Given the description of an element on the screen output the (x, y) to click on. 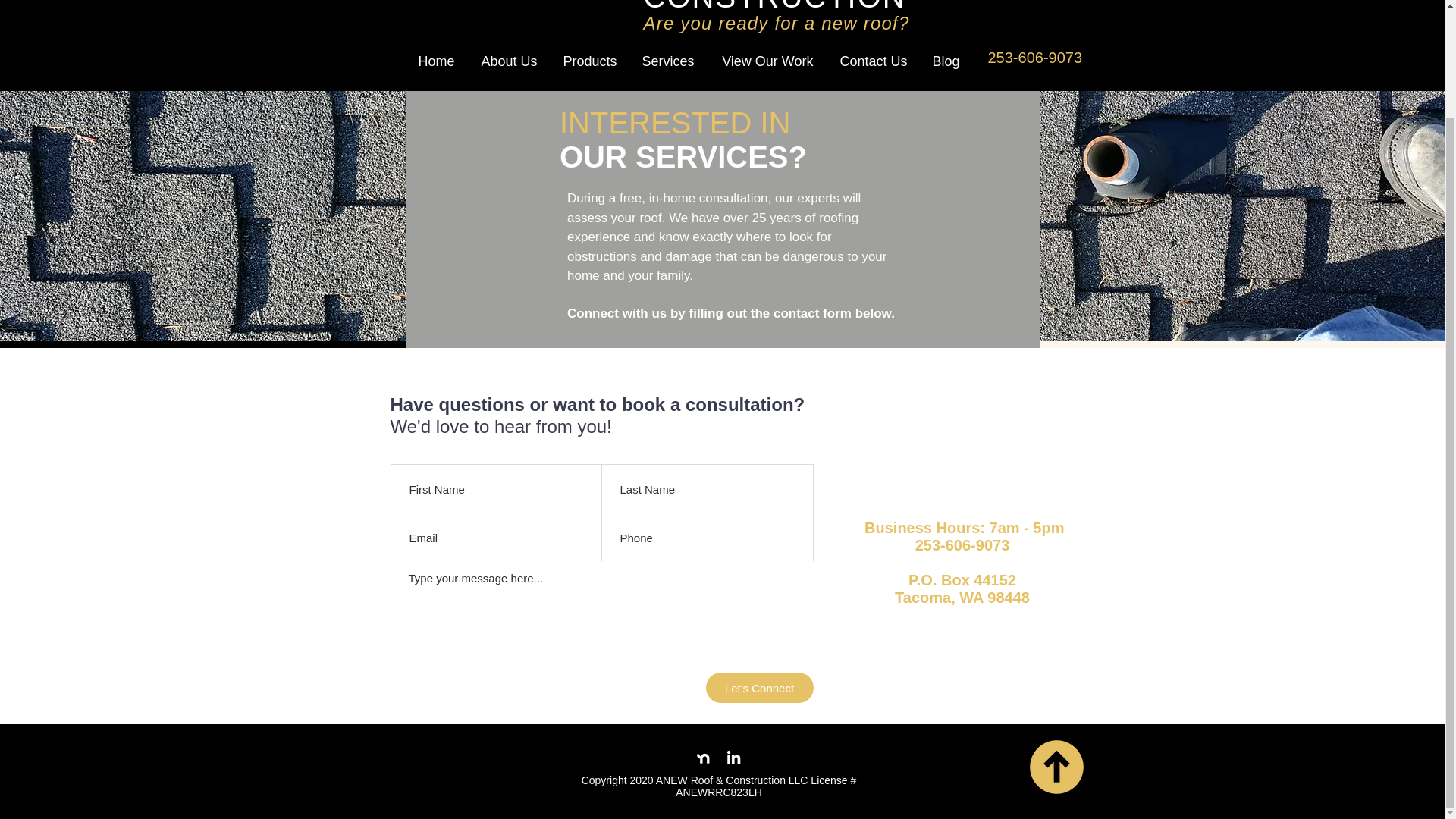
Home (434, 61)
Services (665, 61)
View Our Work (764, 61)
Let's Connect (758, 687)
Products (588, 61)
Contact Us (871, 61)
253-606-9073 (1034, 55)
Blog (944, 61)
About Us (506, 61)
